Given the description of an element on the screen output the (x, y) to click on. 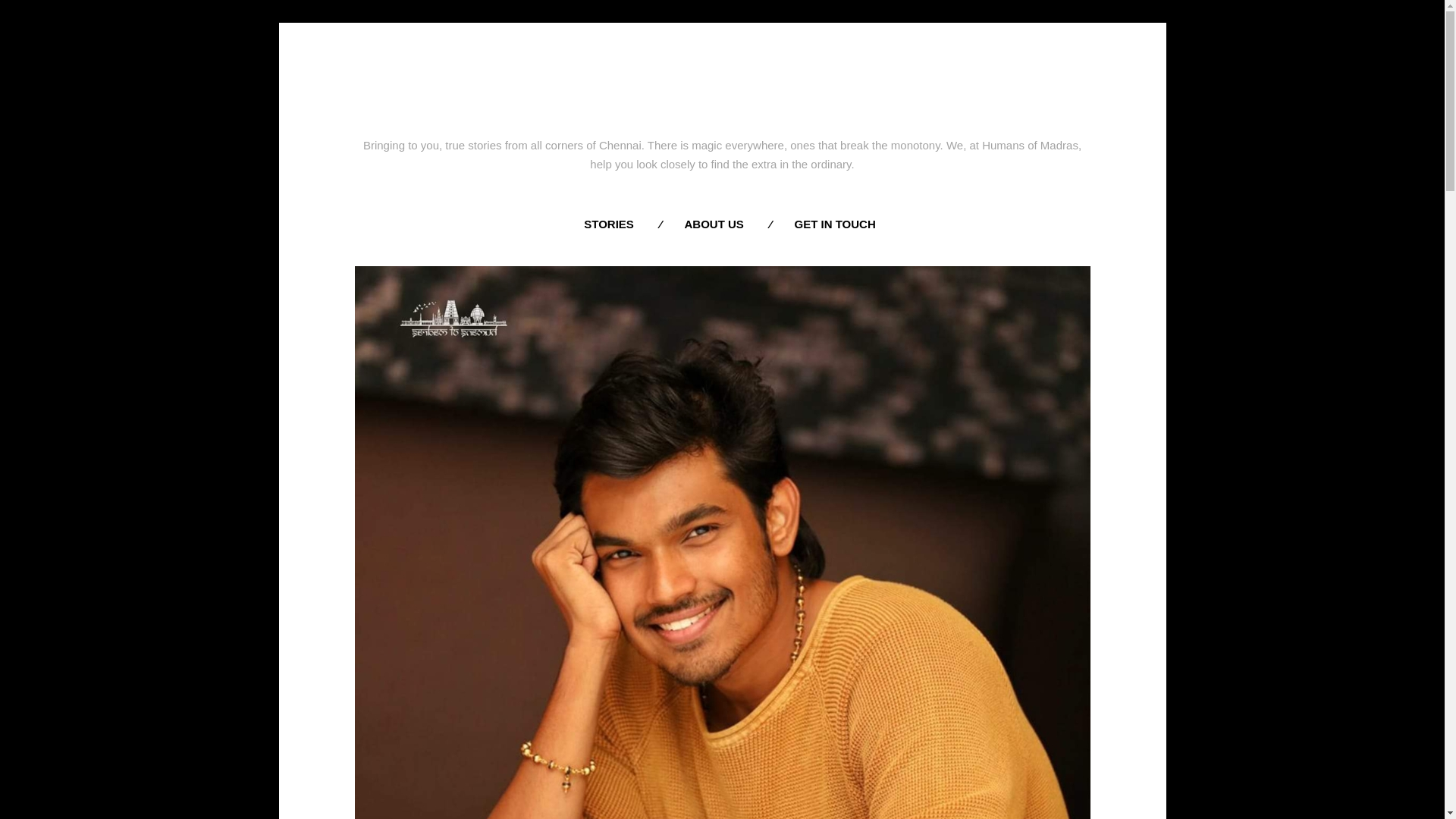
Home (722, 98)
